Given the description of an element on the screen output the (x, y) to click on. 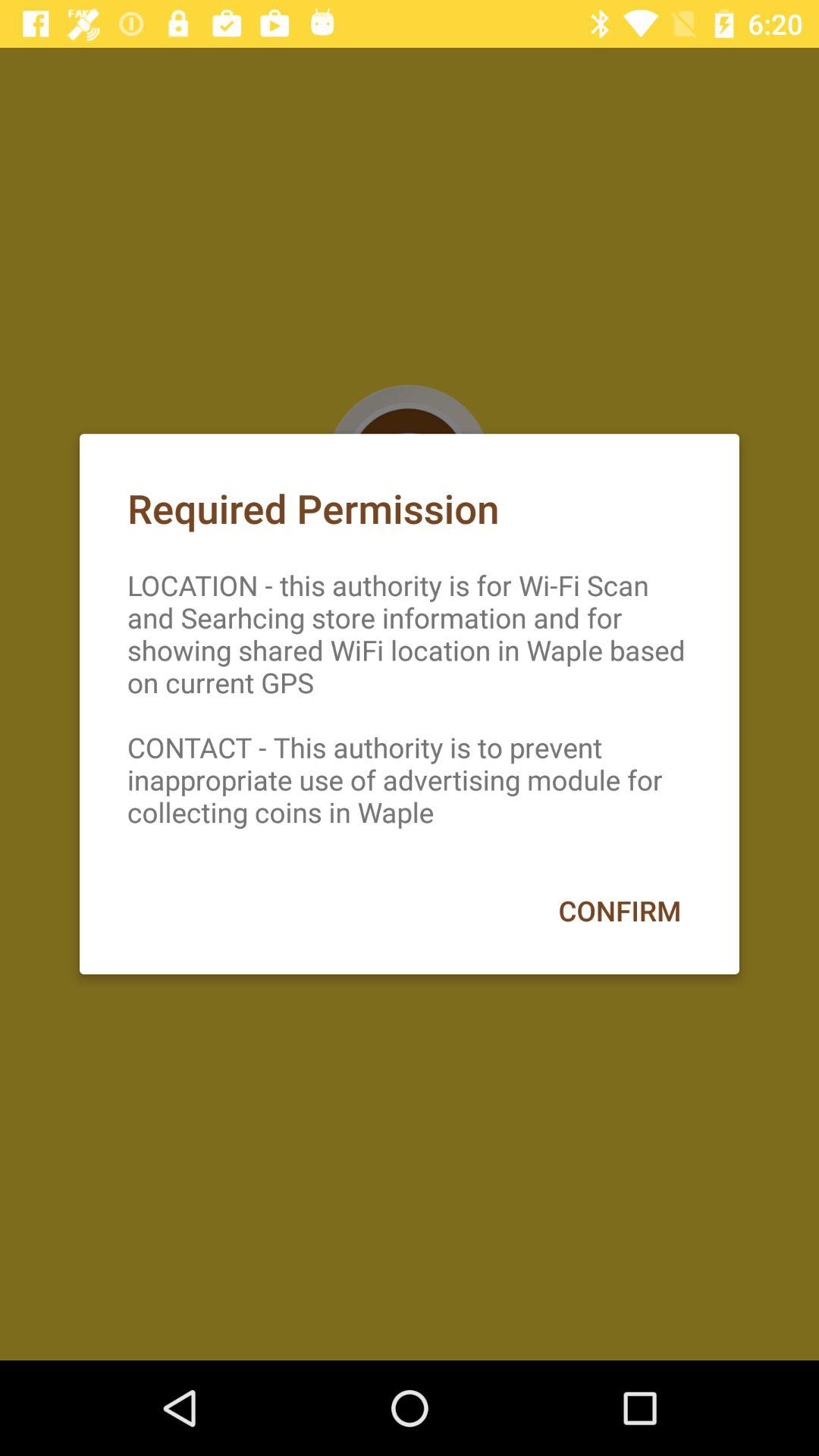
swipe until confirm item (619, 910)
